Given the description of an element on the screen output the (x, y) to click on. 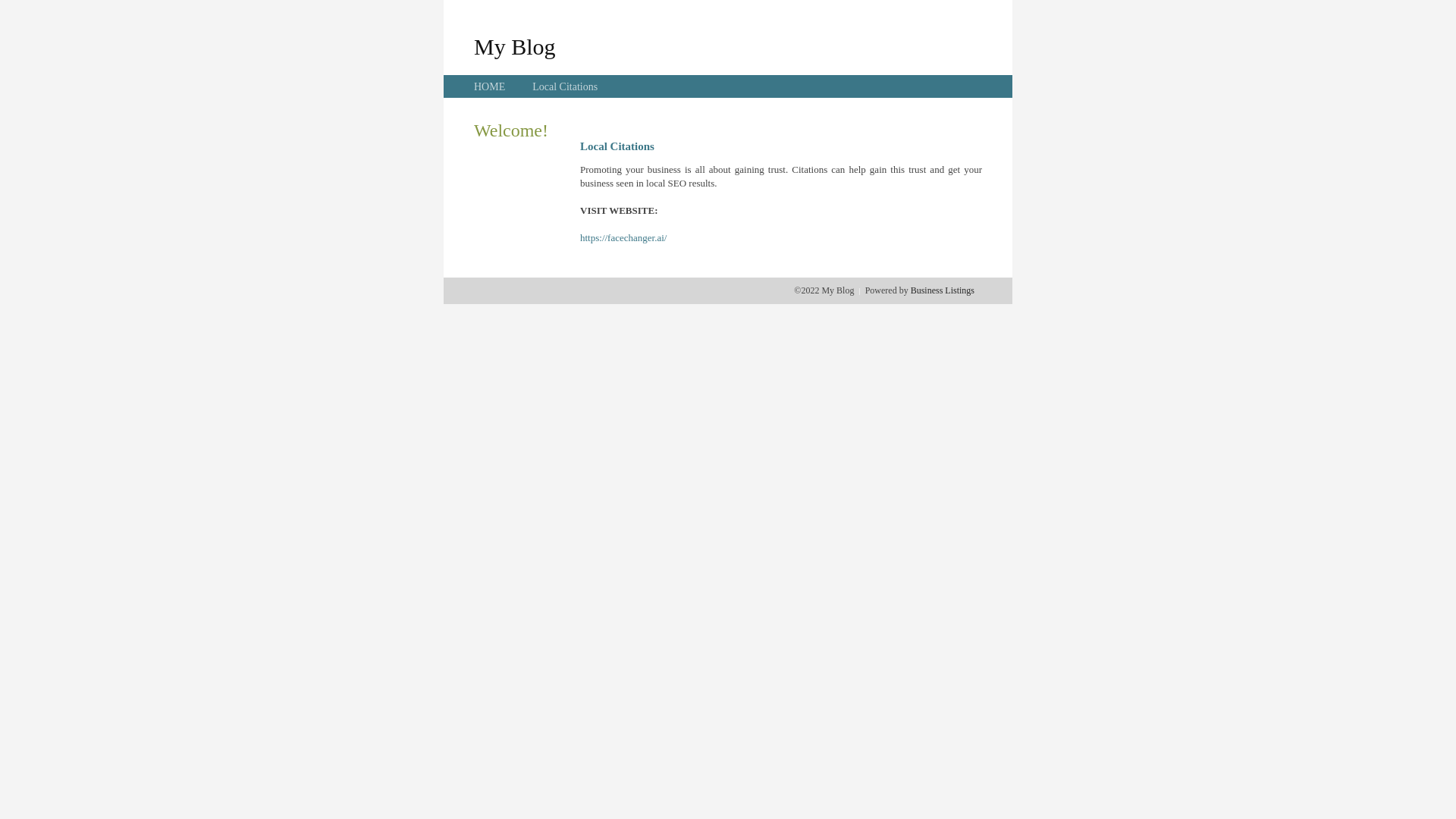
HOME Element type: text (489, 86)
https://facechanger.ai/ Element type: text (623, 237)
Business Listings Element type: text (942, 290)
My Blog Element type: text (514, 46)
Local Citations Element type: text (564, 86)
